Given the description of an element on the screen output the (x, y) to click on. 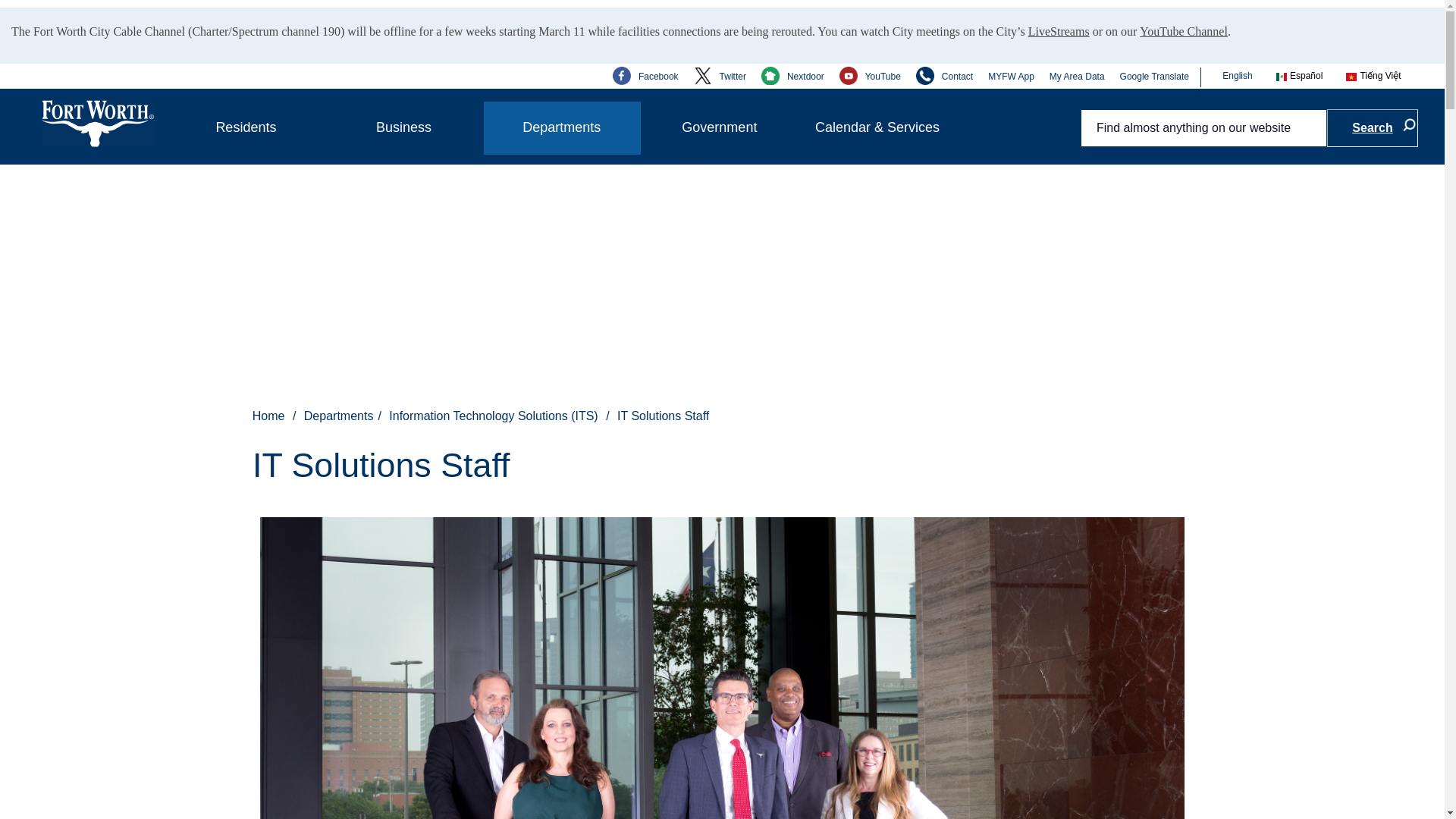
LiveStreams (1058, 27)
Residents (245, 127)
Google Translate (1154, 76)
Search (1372, 127)
City of Fort Worth - Home - Logo (98, 123)
MYFW App (1010, 76)
YouTube Channel (1183, 27)
YouTube (870, 76)
Facebook (645, 76)
Nextdoor (792, 76)
My Area Data (1077, 76)
Contact (943, 76)
Search (1372, 127)
Twitter (719, 76)
